Given the description of an element on the screen output the (x, y) to click on. 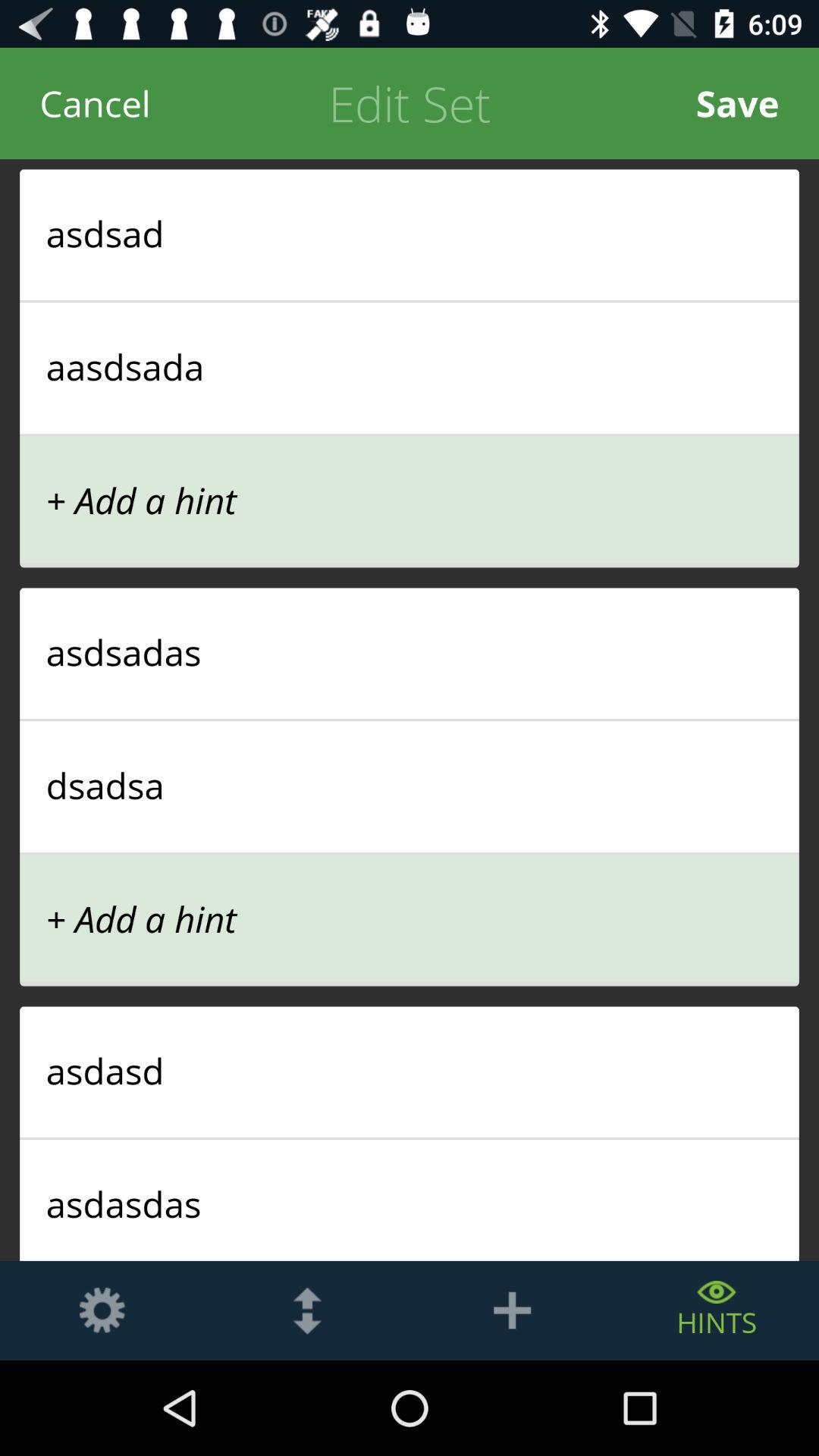
add information (511, 1310)
